Given the description of an element on the screen output the (x, y) to click on. 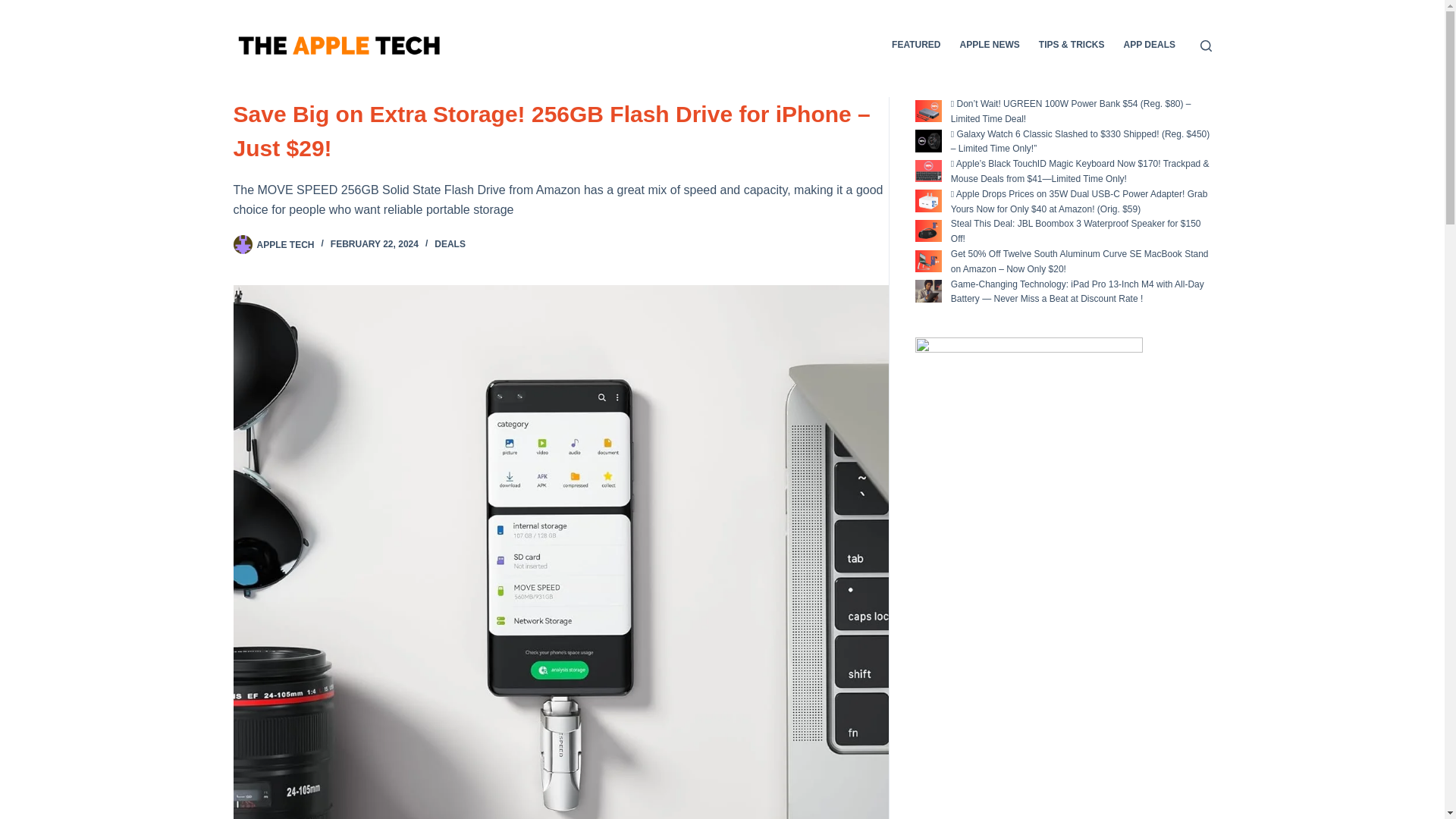
Posts by Apple Tech (285, 244)
APPLE TECH (285, 244)
DEALS (449, 244)
Skip to content (15, 7)
